Given the description of an element on the screen output the (x, y) to click on. 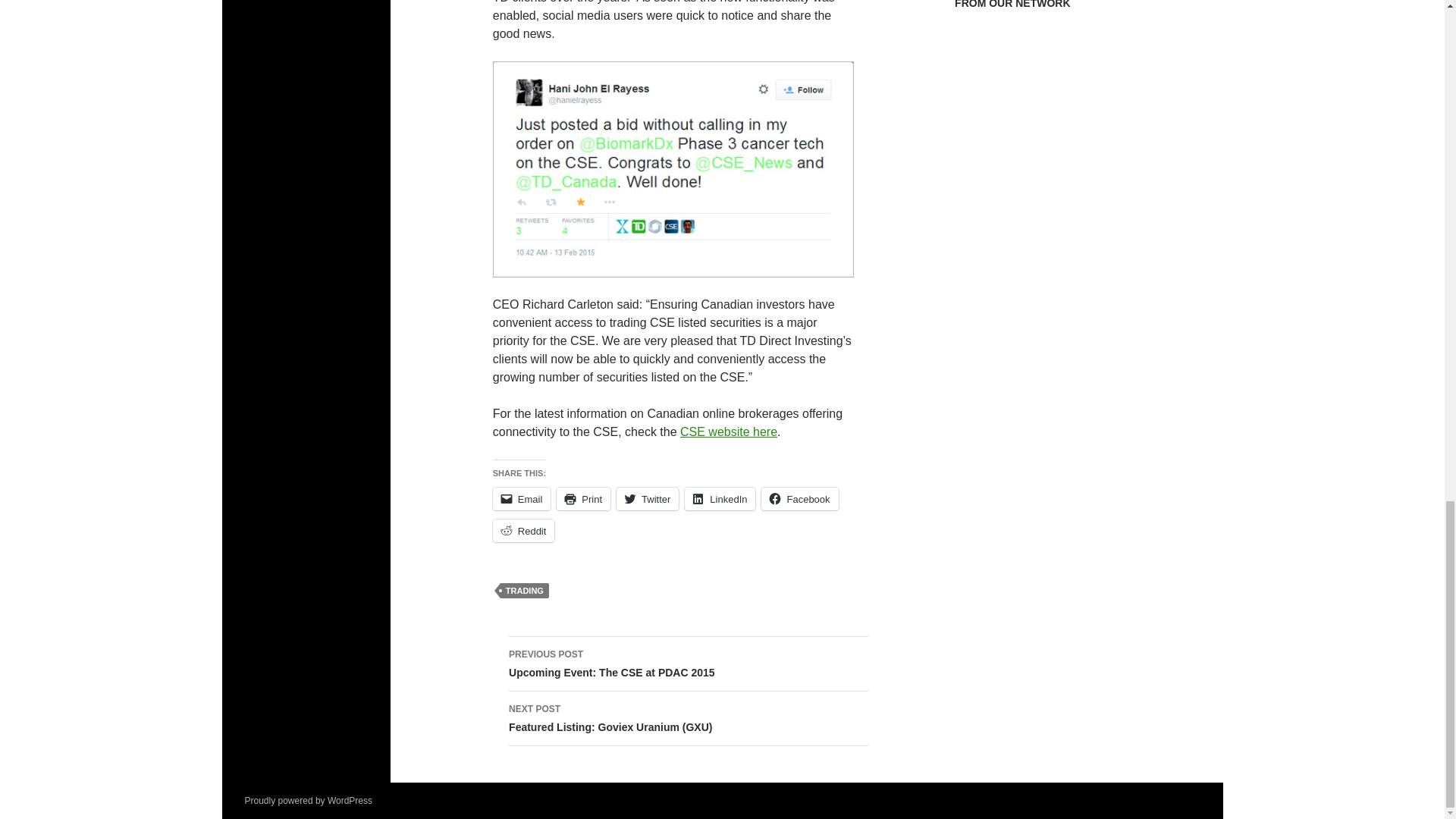
Click to share on Facebook (799, 498)
LinkedIn (687, 664)
Click to share on Reddit (719, 498)
Reddit (523, 530)
TRADING (523, 530)
Twitter (524, 590)
Facebook (646, 498)
Click to share on Twitter (799, 498)
Email (646, 498)
CSE website here (522, 498)
Click to email a link to a friend (728, 431)
Print (522, 498)
Click to share on LinkedIn (583, 498)
Click to print (719, 498)
